Given the description of an element on the screen output the (x, y) to click on. 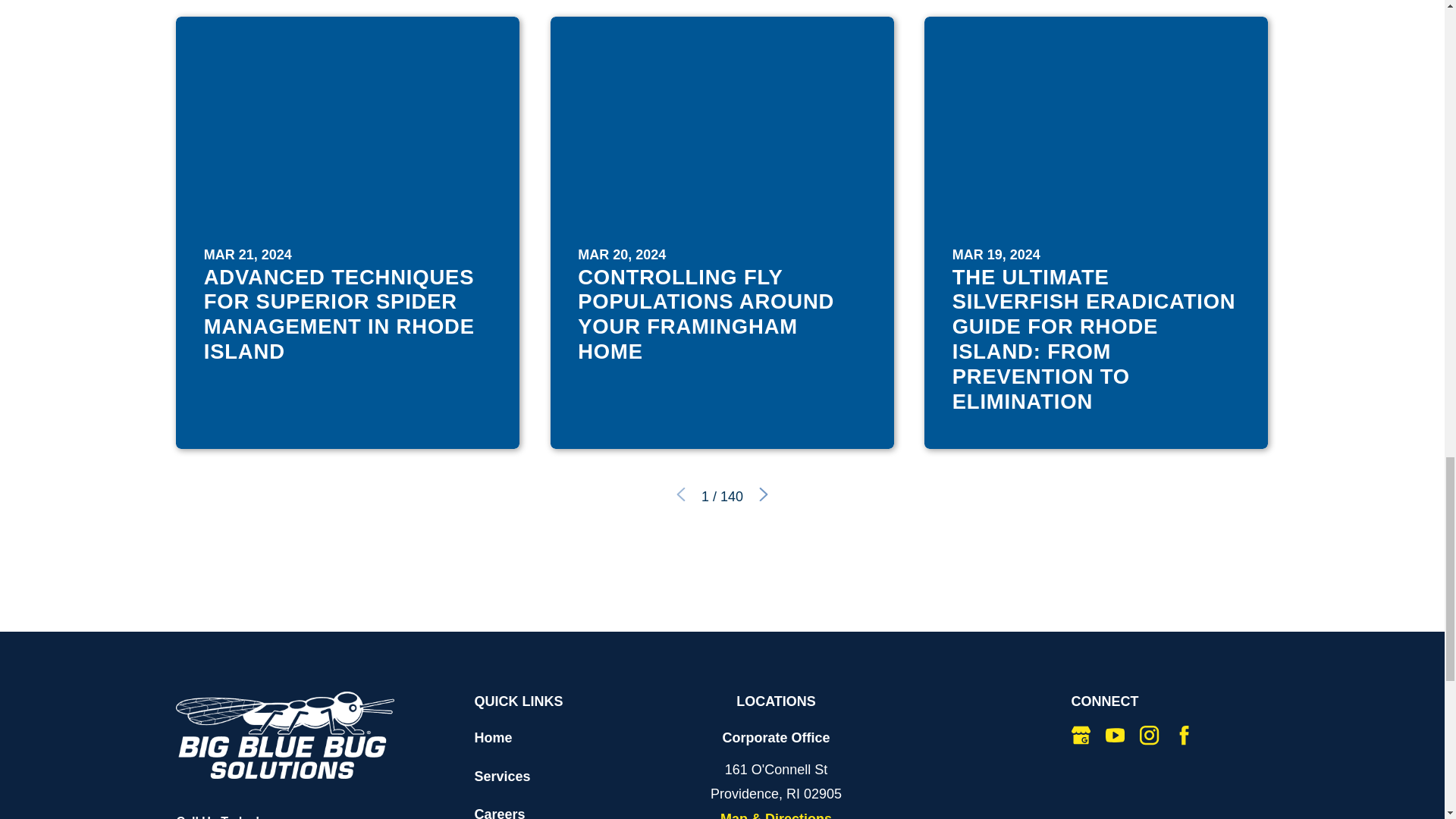
YouTube (1114, 734)
Facebook (1183, 734)
Google Business Profile (1080, 734)
Home (285, 734)
Instagram (1149, 734)
